Given the description of an element on the screen output the (x, y) to click on. 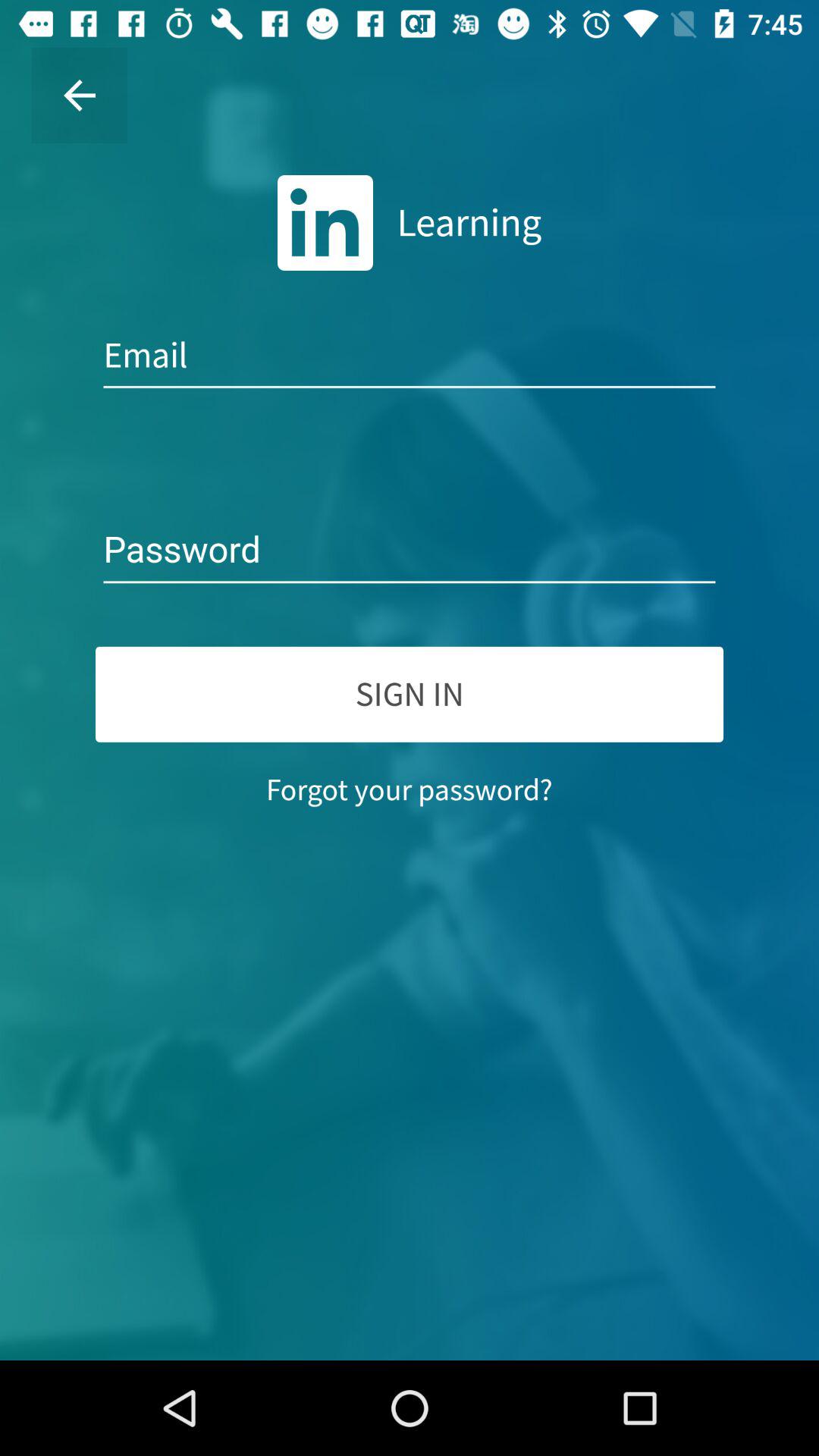
select sign in icon (409, 694)
